Given the description of an element on the screen output the (x, y) to click on. 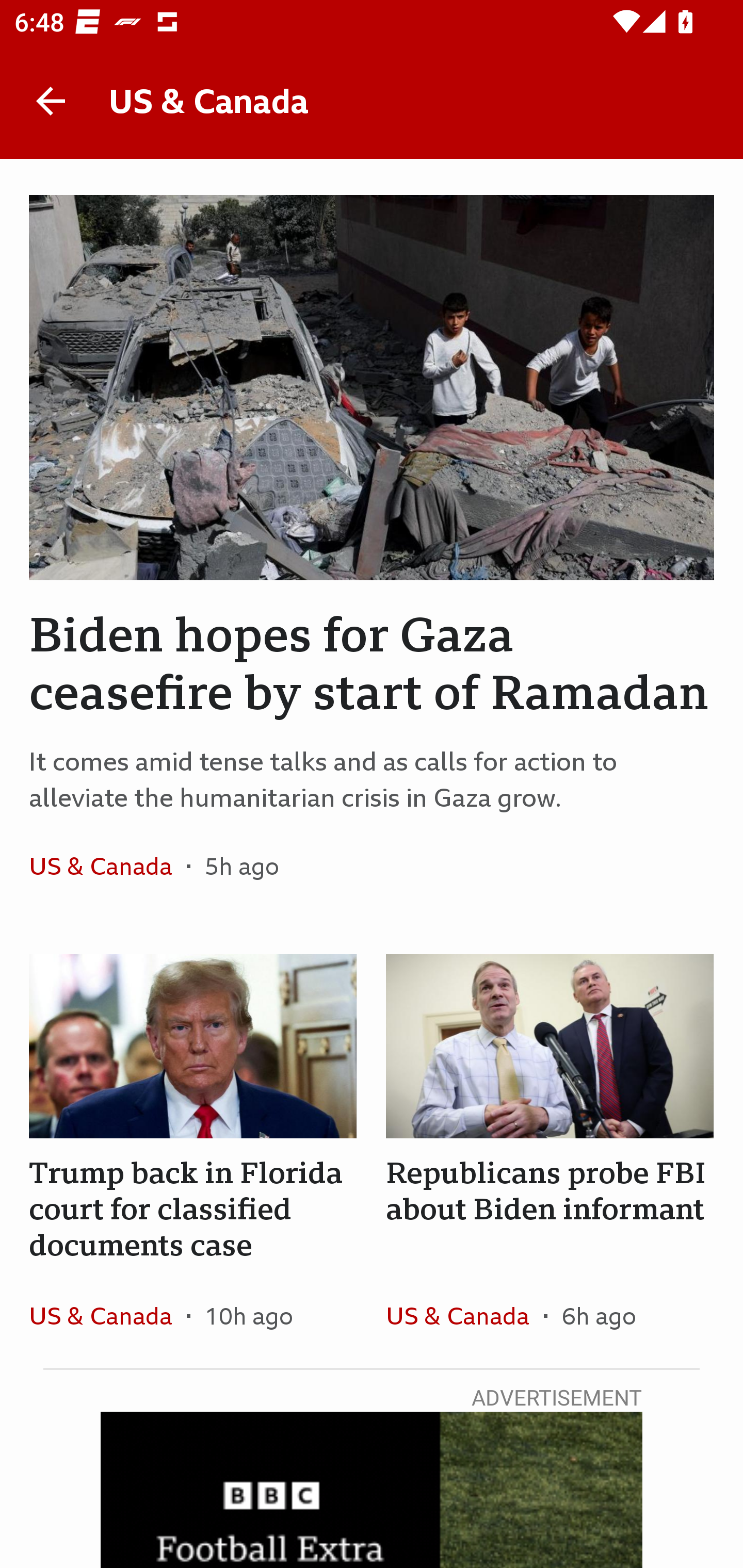
Back (50, 101)
US & Canada In the section US & Canada (107, 865)
US & Canada In the section US & Canada (107, 1315)
US & Canada In the section US & Canada (464, 1315)
